Given the description of an element on the screen output the (x, y) to click on. 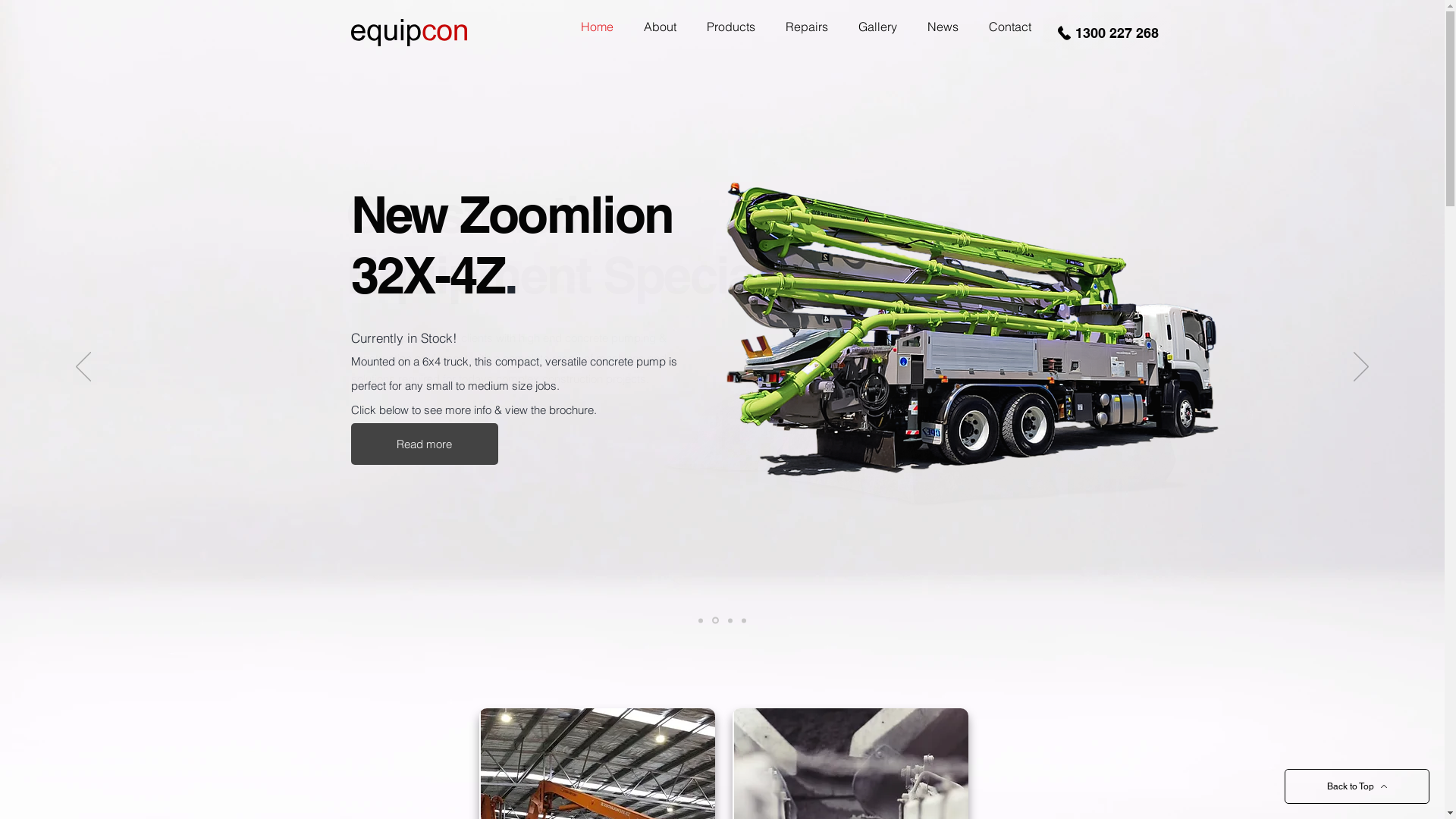
Repairs Element type: text (806, 26)
News Element type: text (941, 26)
Visitor Analytics Element type: hover (1441, 3)
Read more Element type: text (423, 444)
Home Element type: text (596, 26)
1300 227 268 Element type: text (1106, 32)
Products Element type: text (730, 26)
About Element type: text (659, 26)
Back to Top Element type: text (1356, 785)
Gallery Element type: text (877, 26)
Contact Element type: text (1009, 26)
